Given the description of an element on the screen output the (x, y) to click on. 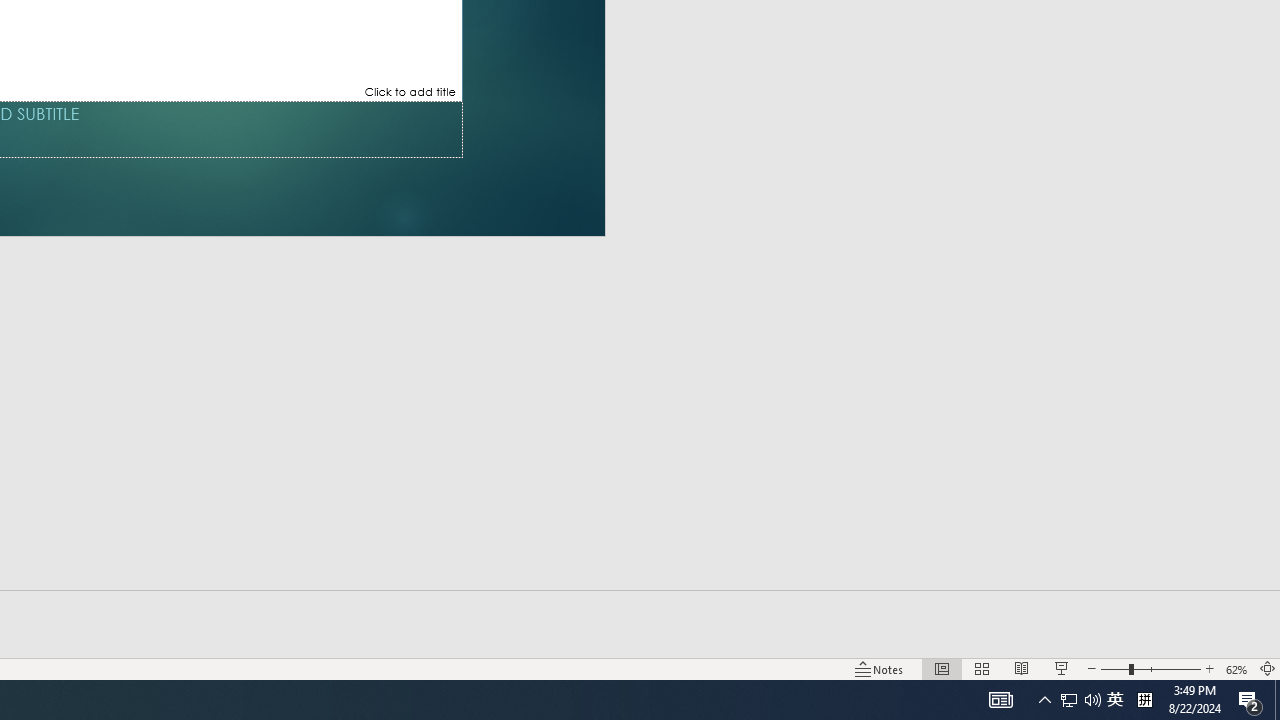
Zoom 62% (1236, 668)
